Given the description of an element on the screen output the (x, y) to click on. 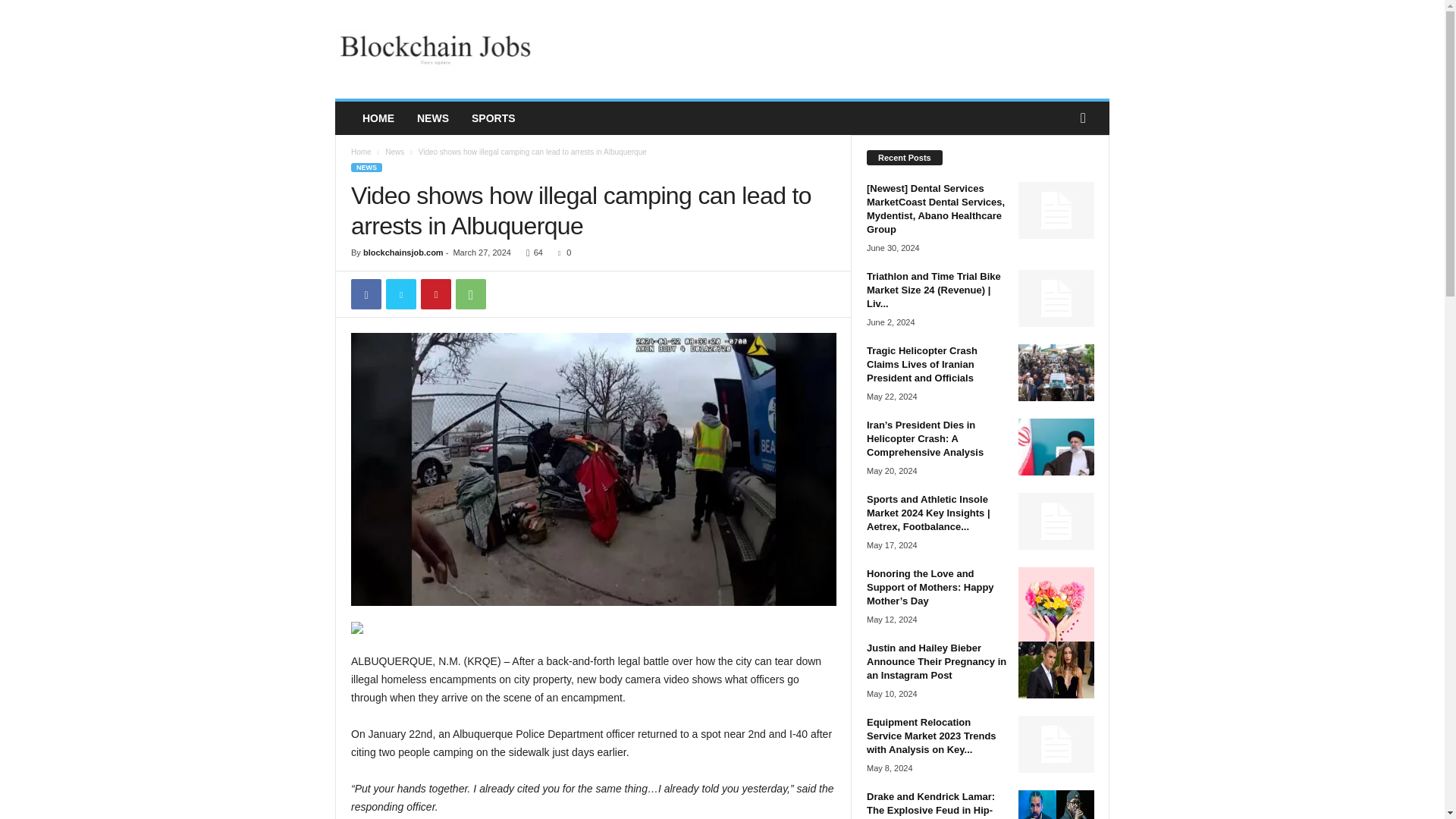
NEWS (365, 166)
HOME (378, 118)
abq-homelss-clean-up-still.jpg (592, 469)
Facebook (365, 294)
blockchainsjob.com (403, 252)
Blockchain Jobs (437, 48)
SPORTS (493, 118)
WhatsApp (470, 294)
Pinterest (435, 294)
News (394, 152)
NEWS (433, 118)
View all posts in News (394, 152)
0 (560, 252)
Twitter (400, 294)
Home (360, 152)
